Given the description of an element on the screen output the (x, y) to click on. 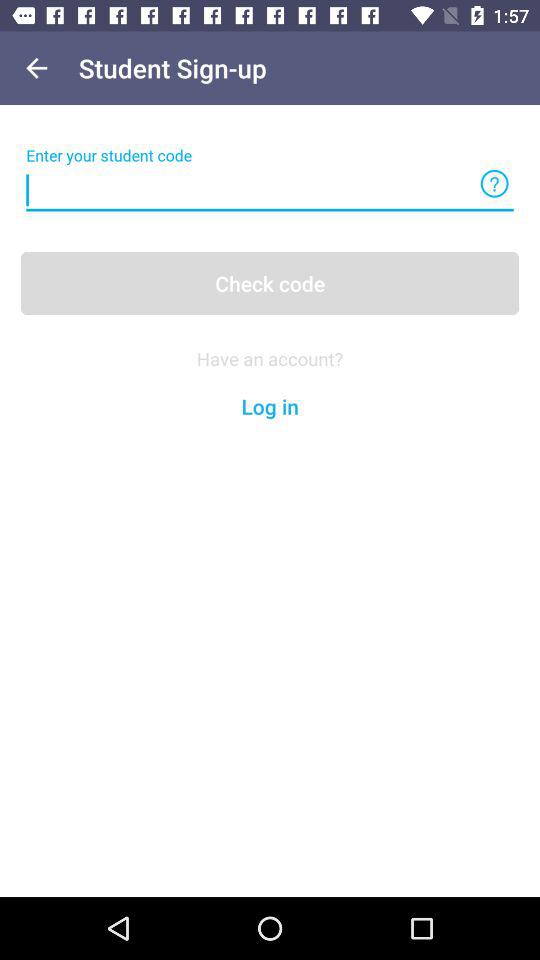
help line (494, 183)
